Given the description of an element on the screen output the (x, y) to click on. 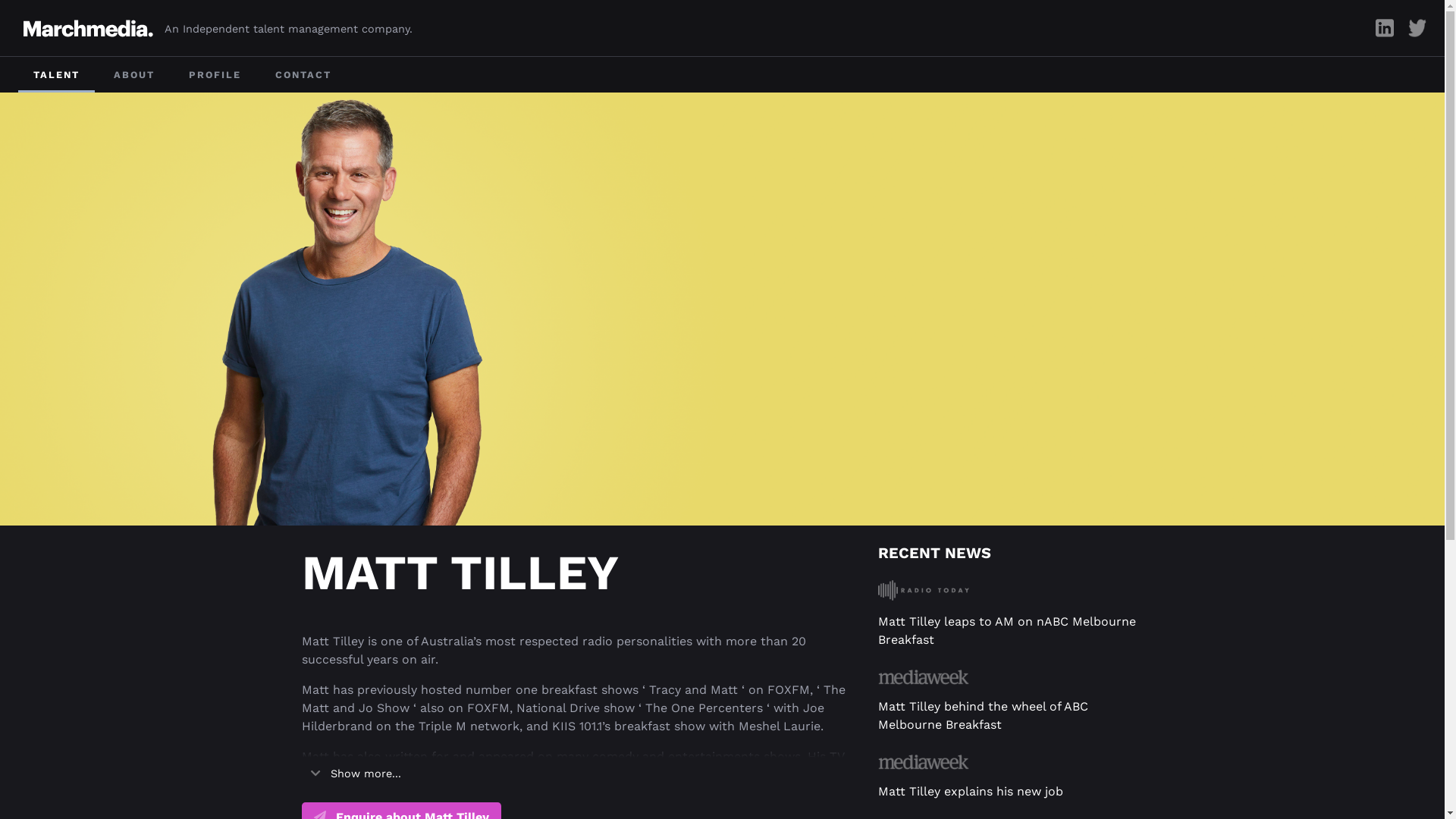
PROFILE Element type: text (214, 74)
CONTACT Element type: text (303, 74)
Matt Tilley behind the wheel of ABC Melbourne Breakfast Element type: text (983, 715)
TALENT Element type: text (56, 74)
Matt Tilley leaps to AM on nABC Melbourne Breakfast Element type: text (1006, 630)
Show more... Element type: text (355, 773)
Matt Tilley explains his new job Element type: text (970, 791)
ABOUT Element type: text (133, 74)
